Given the description of an element on the screen output the (x, y) to click on. 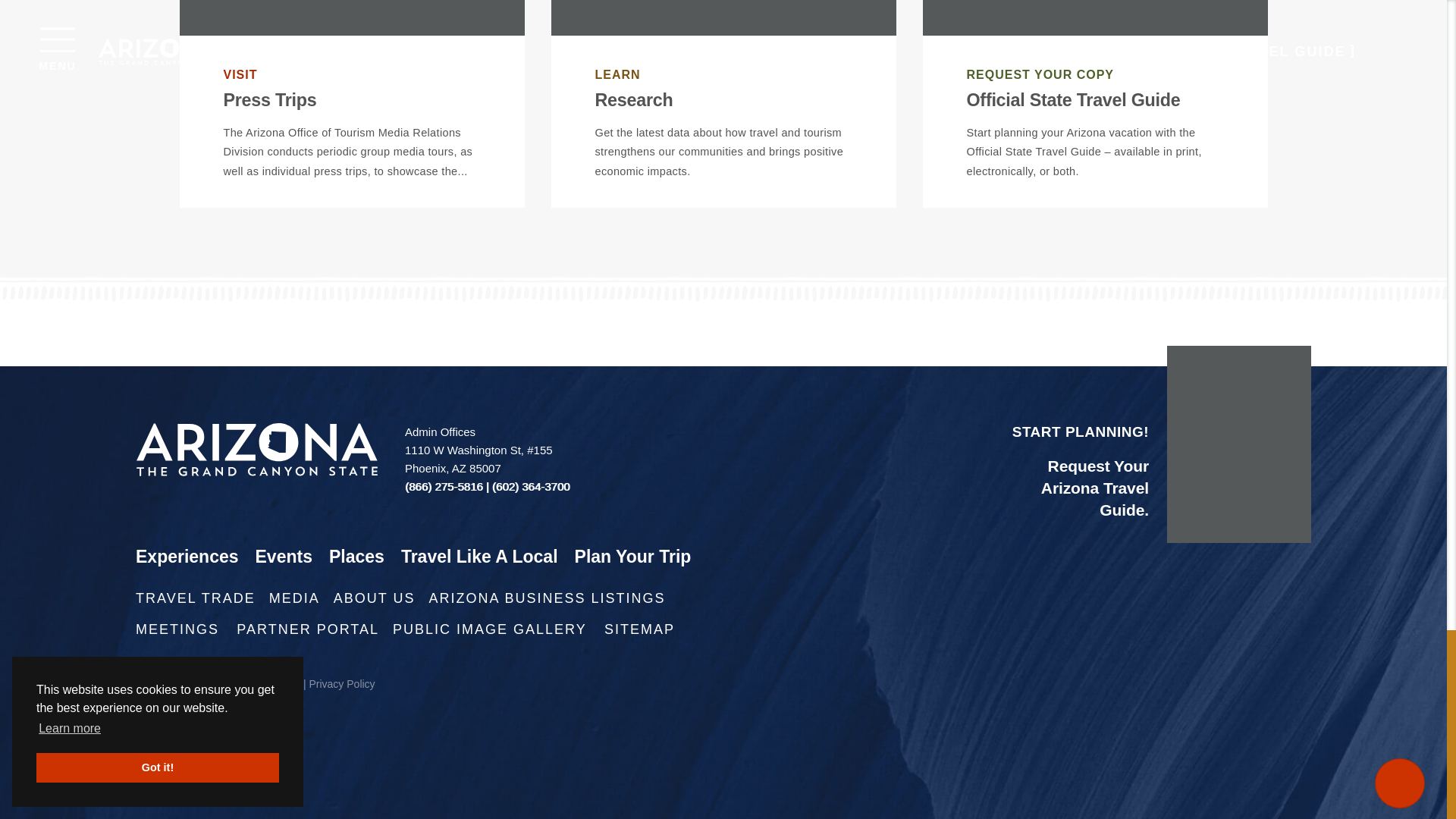
Experiences (195, 560)
Events (292, 560)
Press Trips (268, 99)
Link to Visit Arizona's homepage (256, 449)
Official State Travel Guide (1072, 99)
Link to Visit Arizona's homepage (256, 449)
Research (633, 99)
